Given the description of an element on the screen output the (x, y) to click on. 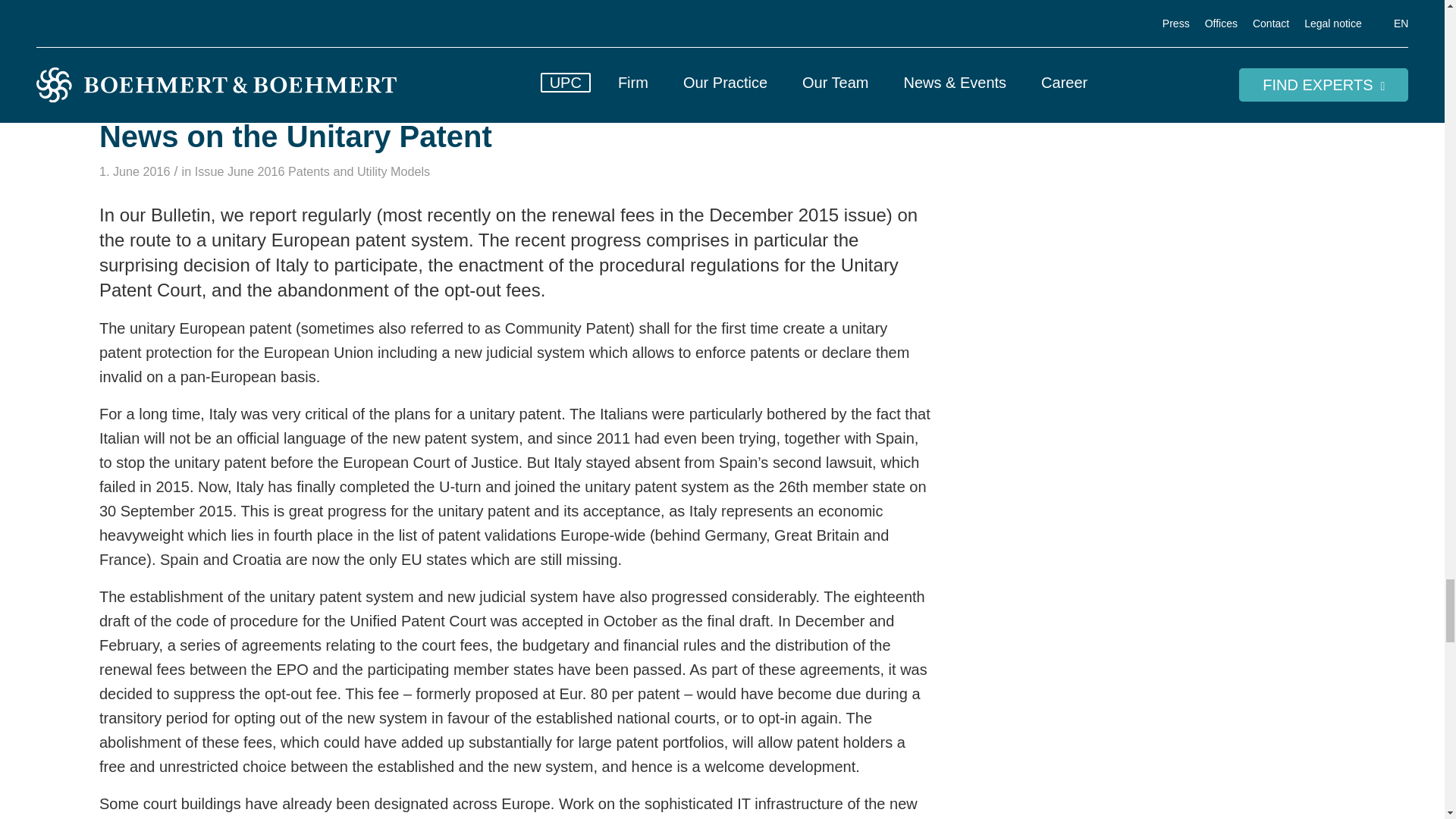
Permanent Link: News on the Unitary Patent (295, 136)
